Given the description of an element on the screen output the (x, y) to click on. 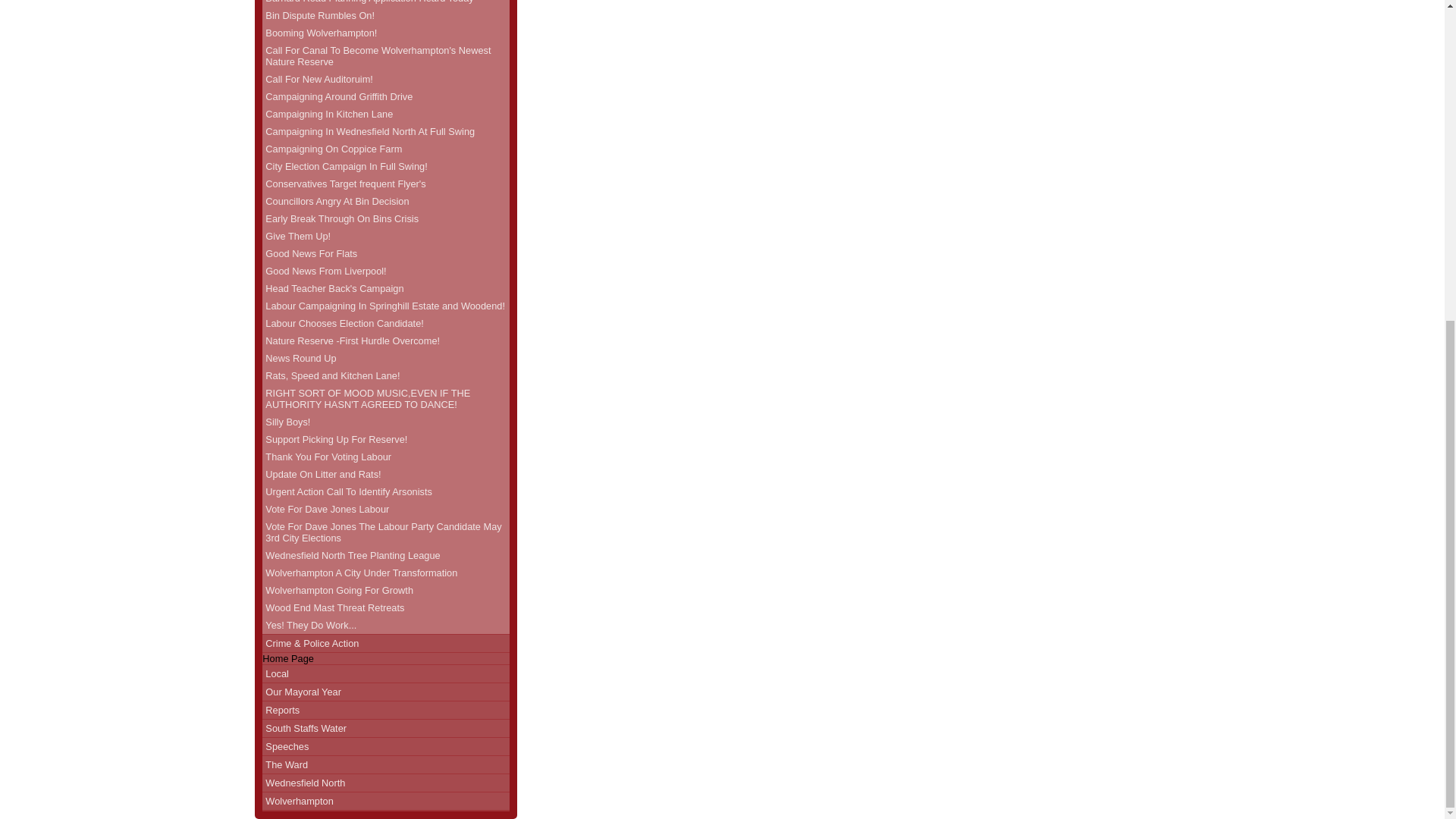
Campaigning Around Griffith Drive (385, 96)
Barnard Road Planning Application Heard Today (385, 3)
Campaigning In Kitchen Lane (385, 113)
Campaigning In Wednesfield North At Full Swing (385, 131)
Campaigning On Coppice Farm (385, 149)
Booming Wolverhampton! (385, 32)
Conservatives Target frequent Flyer's (385, 183)
Bin Dispute Rumbles On! (385, 15)
Call For New Auditoruim! (385, 78)
